Given the description of an element on the screen output the (x, y) to click on. 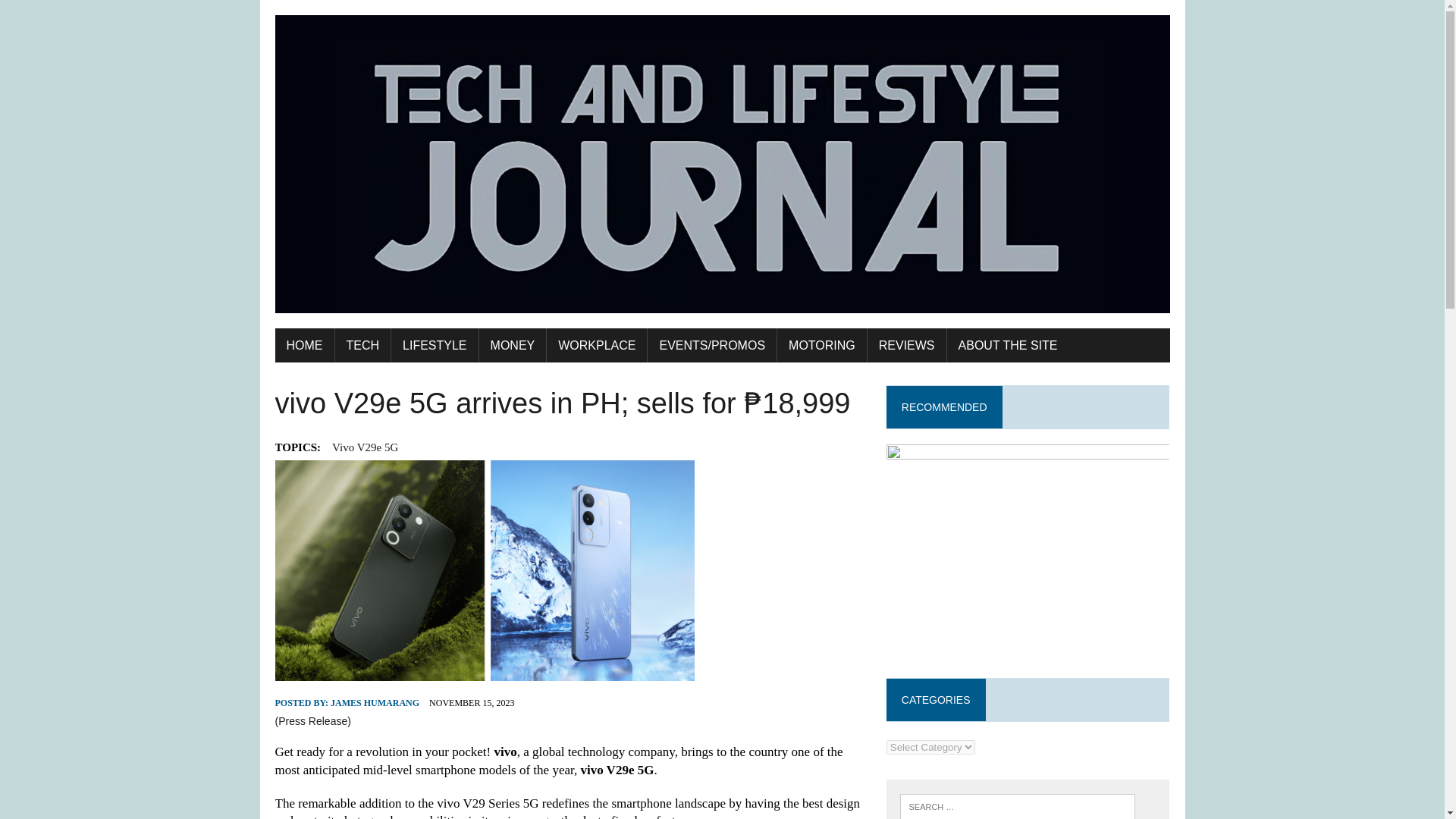
WORKPLACE (596, 345)
LIFESTYLE (434, 345)
Vivo V29e 5G (364, 447)
MONEY (513, 345)
TECH (362, 345)
REVIEWS (906, 345)
ABOUT THE SITE (1007, 345)
Search (75, 14)
JAMES HUMARANG (374, 702)
Best Deal at Shopee (1028, 549)
MOTORING (821, 345)
HOME (304, 345)
